Given the description of an element on the screen output the (x, y) to click on. 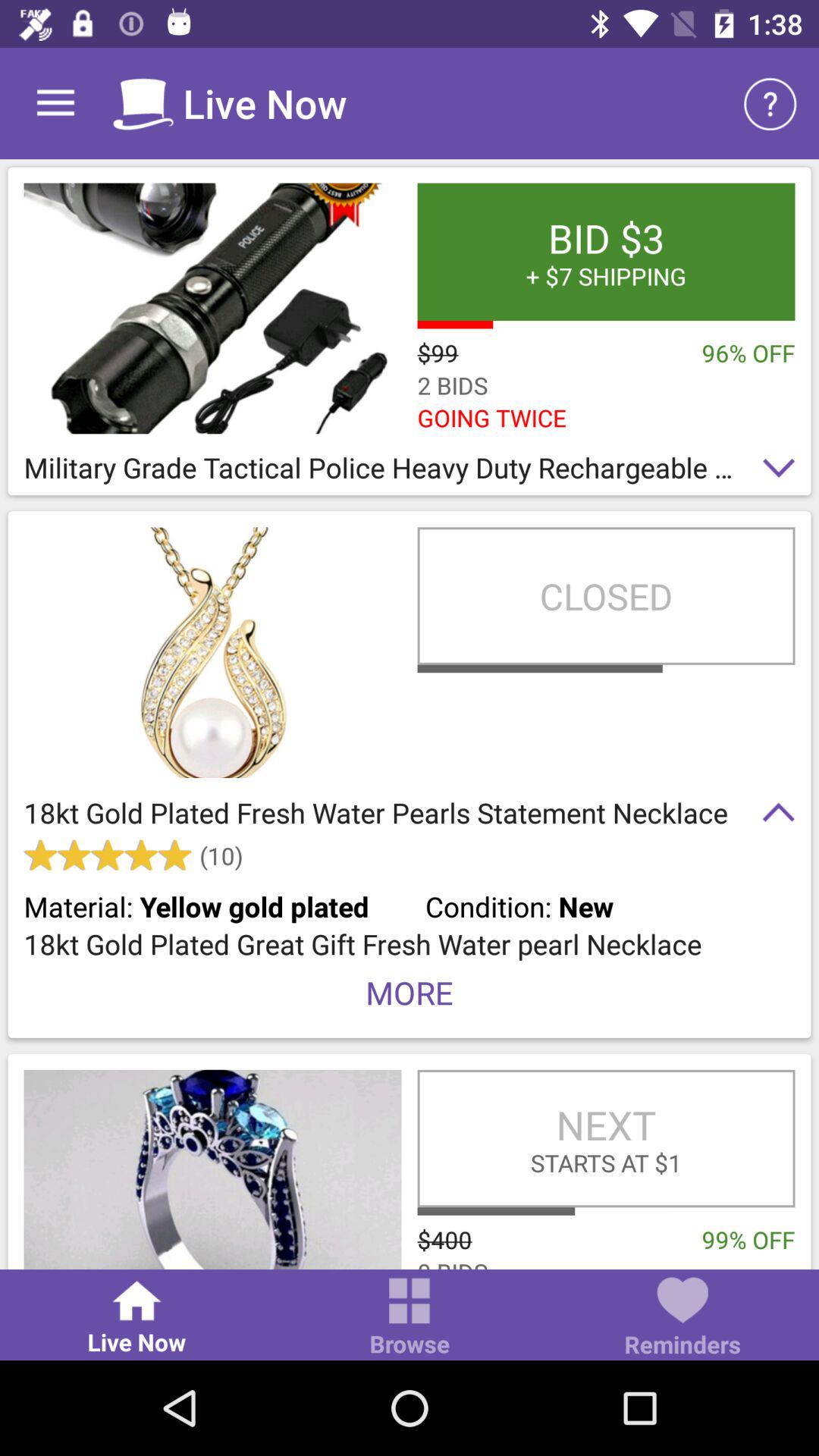
view item (212, 1169)
